Given the description of an element on the screen output the (x, y) to click on. 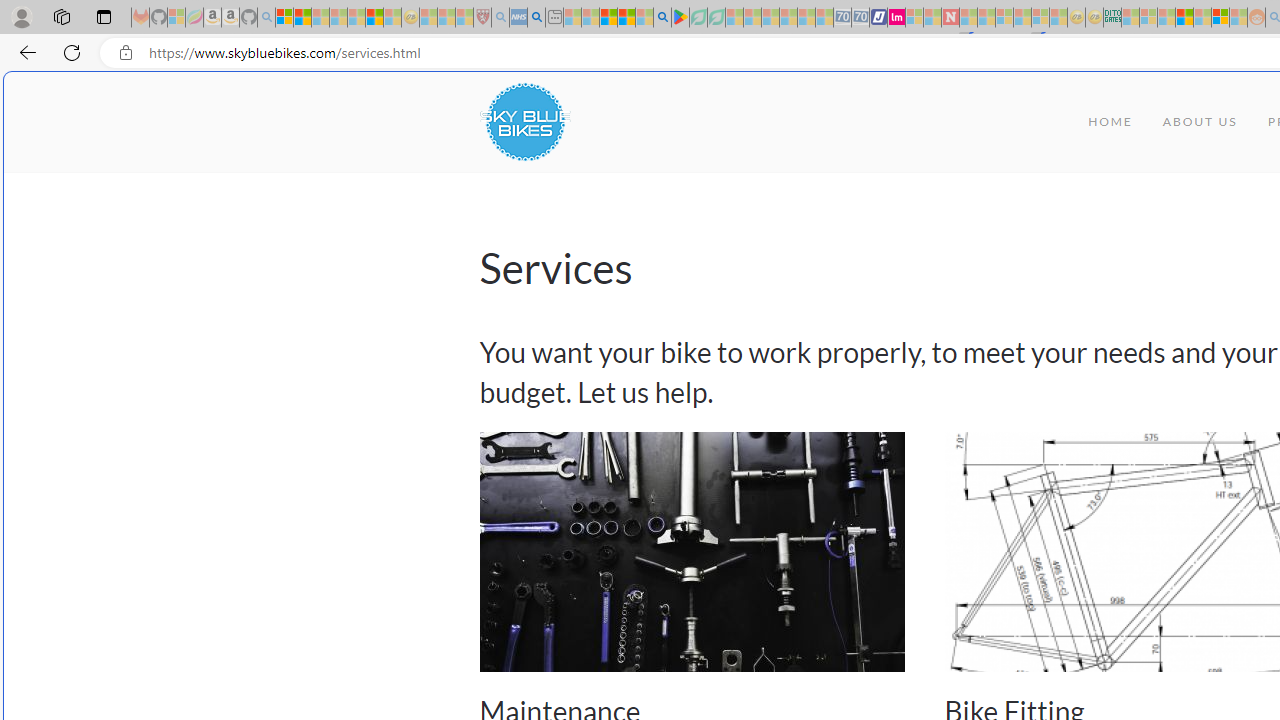
Bluey: Let's Play! - Apps on Google Play (680, 17)
Class: uk-navbar-item uk-logo (524, 122)
